Given the description of an element on the screen output the (x, y) to click on. 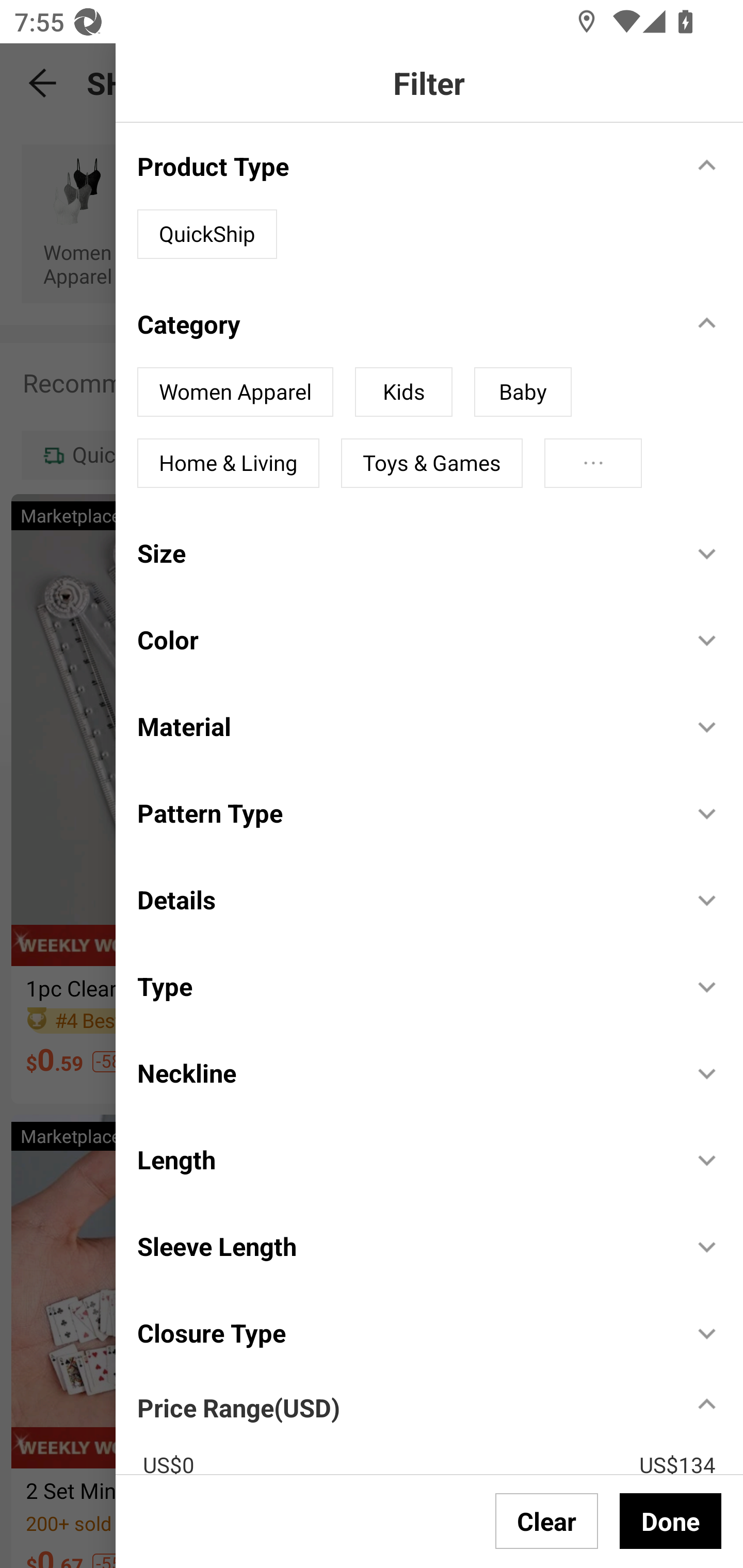
Product Type (403, 166)
QuickShip (207, 234)
Category (403, 323)
Women Apparel (235, 391)
Kids (403, 391)
Baby (522, 391)
Home & Living (228, 463)
Toys & Games (431, 463)
Size (403, 552)
Color (403, 639)
Material (403, 725)
Pattern Type (403, 812)
Details (403, 899)
Type (403, 986)
Neckline (403, 1072)
Length (403, 1159)
Sleeve Length (403, 1246)
Closure Type (403, 1332)
Price Range(USD) (238, 1407)
Clear (546, 1520)
Done (670, 1520)
